Given the description of an element on the screen output the (x, y) to click on. 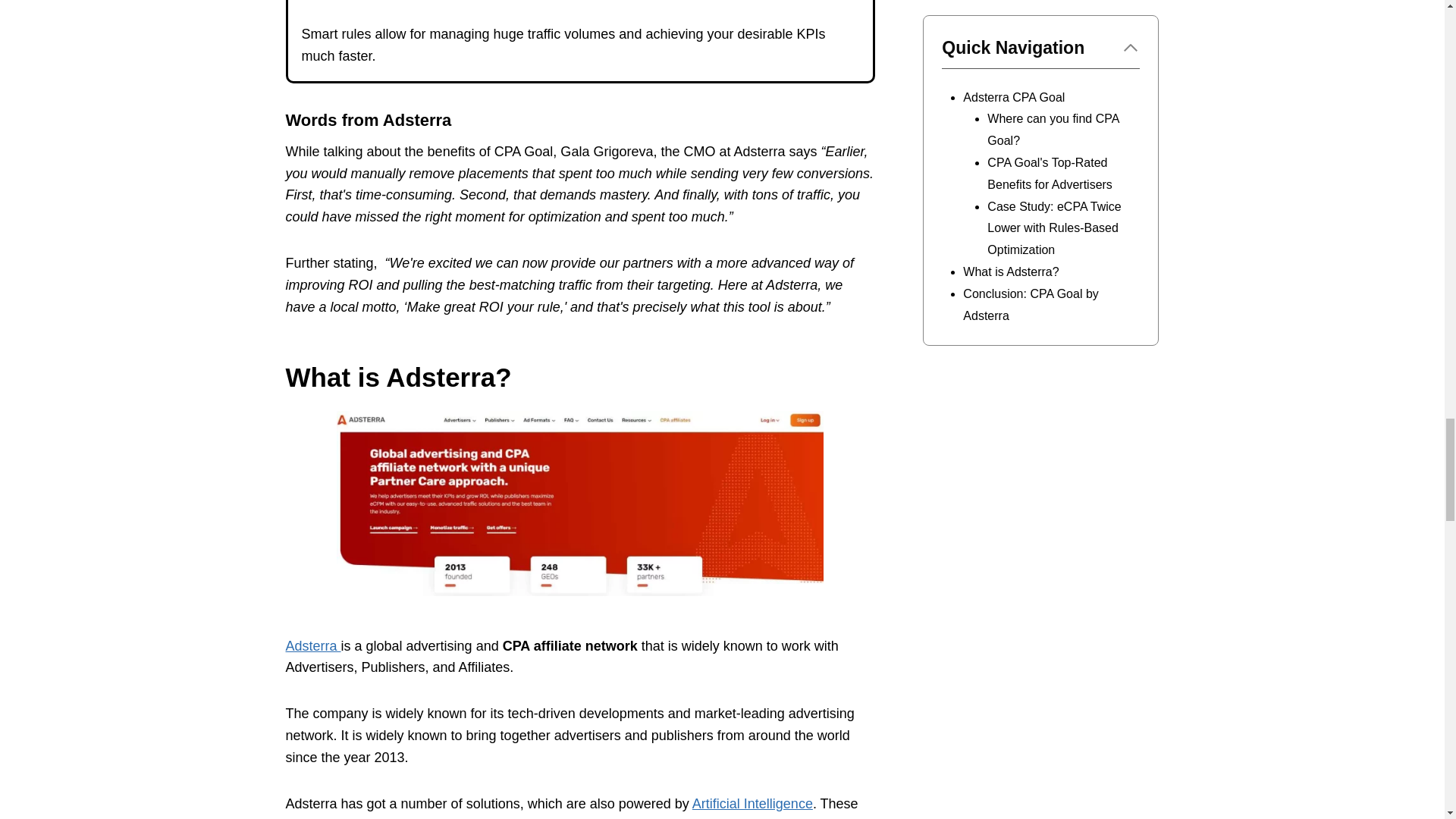
Artificial Intelligence (752, 803)
Reach your Target CPA with Adsterra CPA Goal: Great ROI? 3 (580, 503)
Adsterra (312, 645)
